Given the description of an element on the screen output the (x, y) to click on. 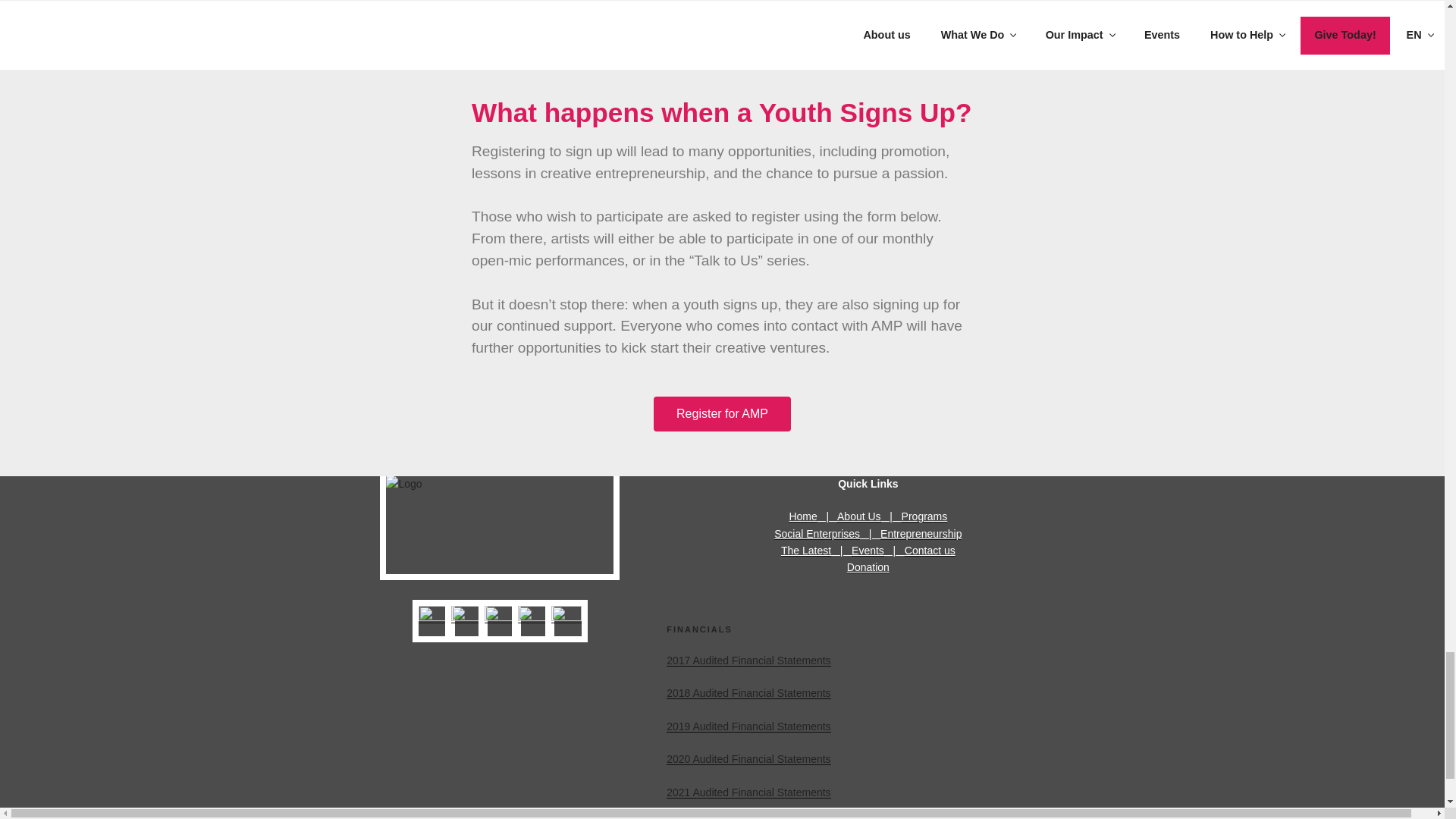
Programs (924, 516)
Register for AMP (721, 413)
Home (802, 516)
About Us (858, 516)
